Given the description of an element on the screen output the (x, y) to click on. 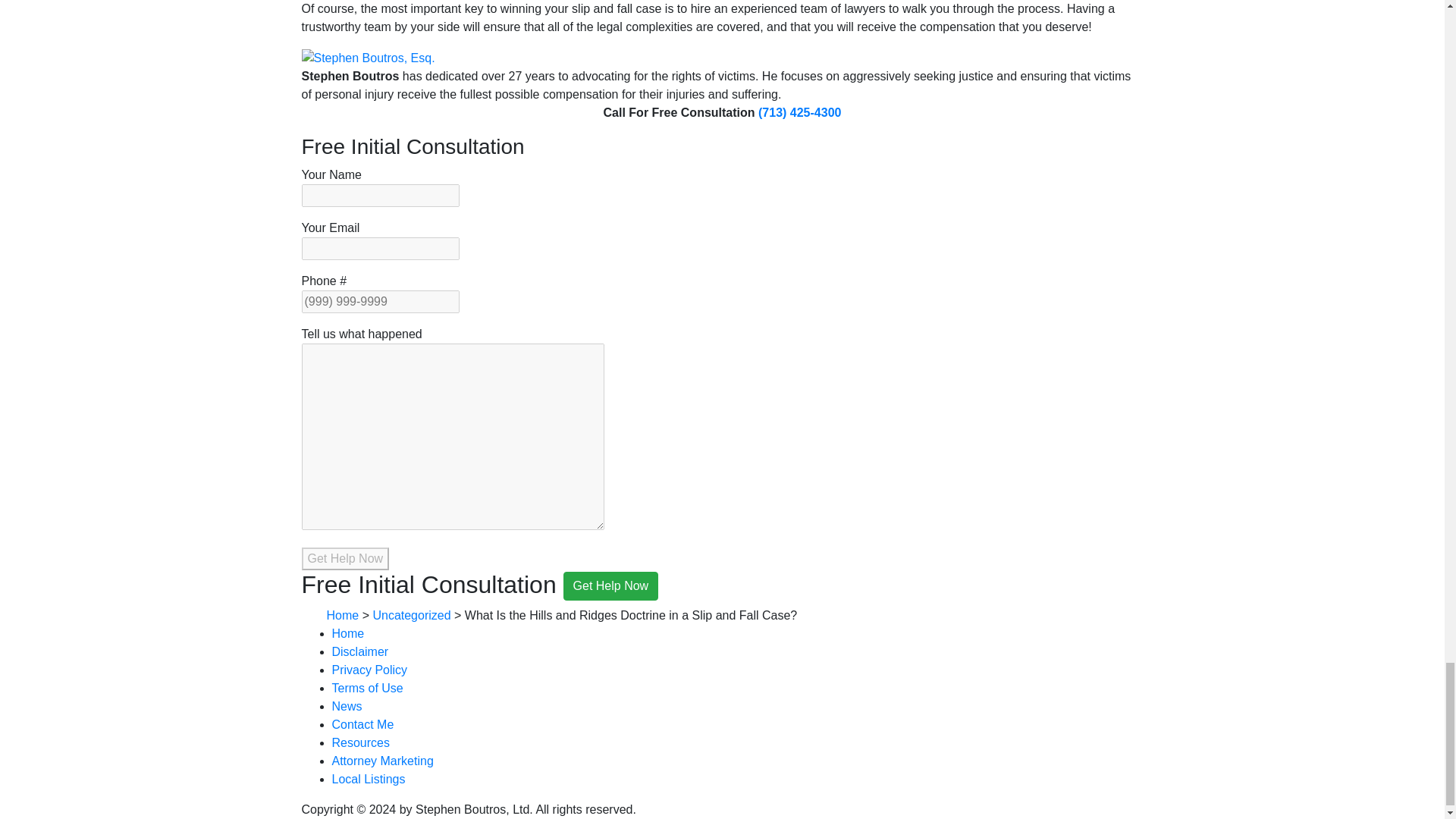
Go to the Uncategorized Category archives. (410, 615)
Go to Stephen Boutros. (342, 615)
